Given the description of an element on the screen output the (x, y) to click on. 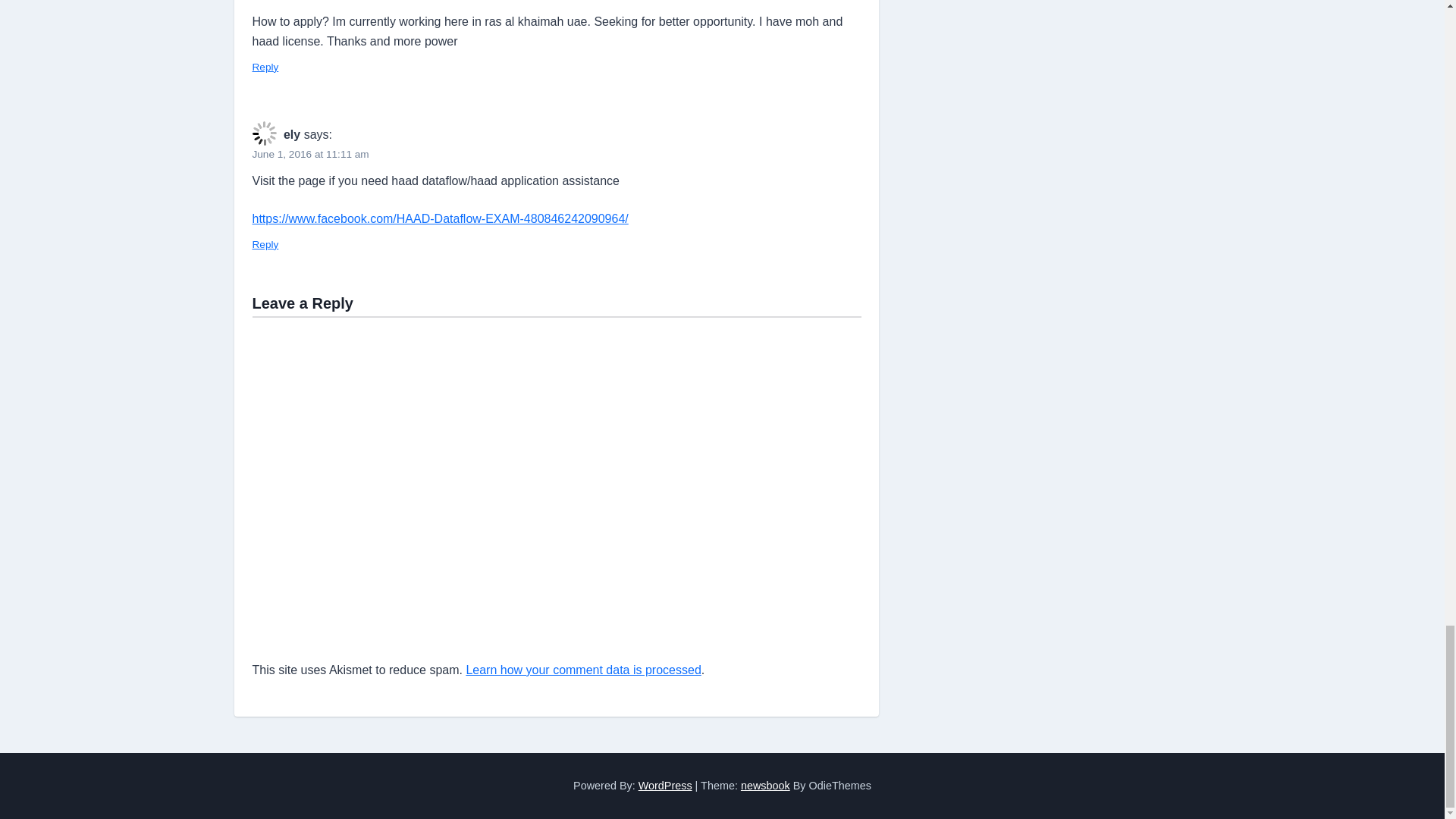
WordPress (666, 785)
Reply (264, 244)
Reply (264, 66)
Learn how your comment data is processed (582, 669)
June 1, 2016 at 11:11 am (309, 153)
newsbook (765, 785)
